Given the description of an element on the screen output the (x, y) to click on. 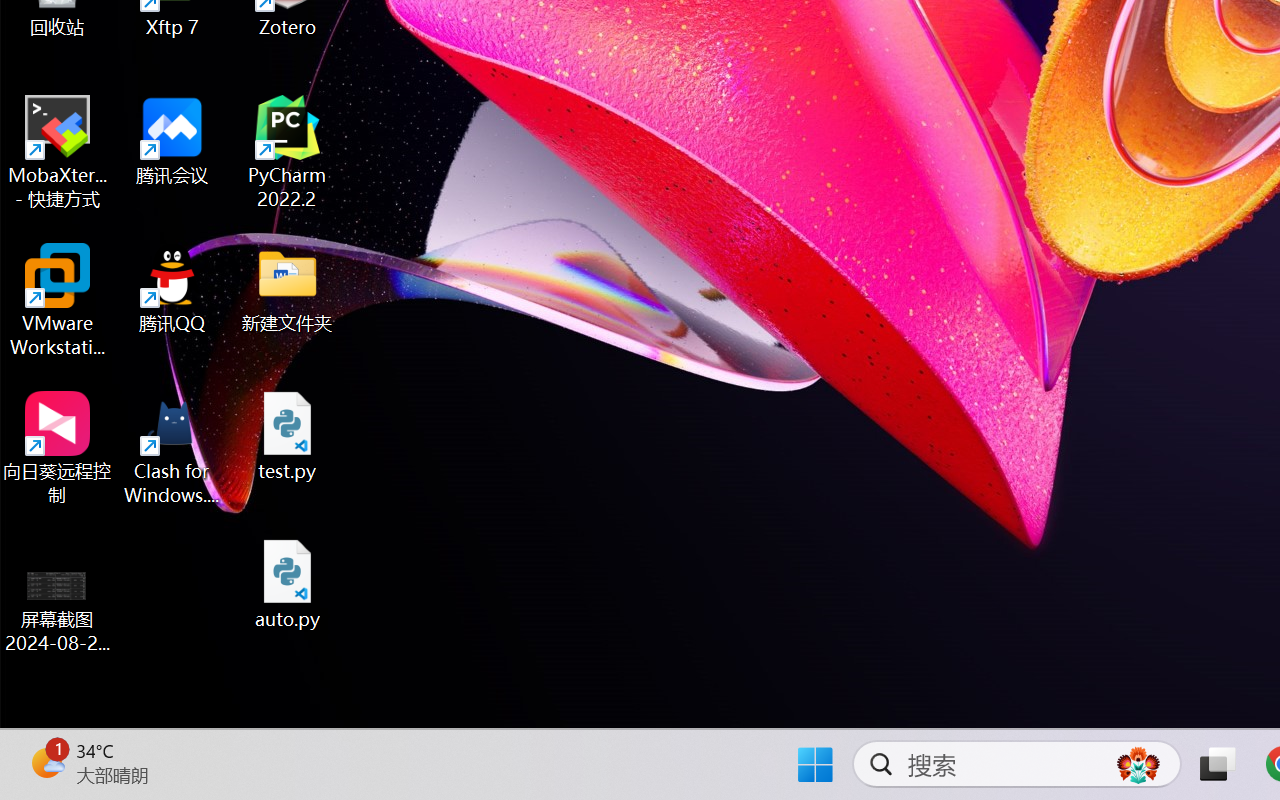
PyCharm 2022.2 (287, 152)
auto.py (287, 584)
